Given the description of an element on the screen output the (x, y) to click on. 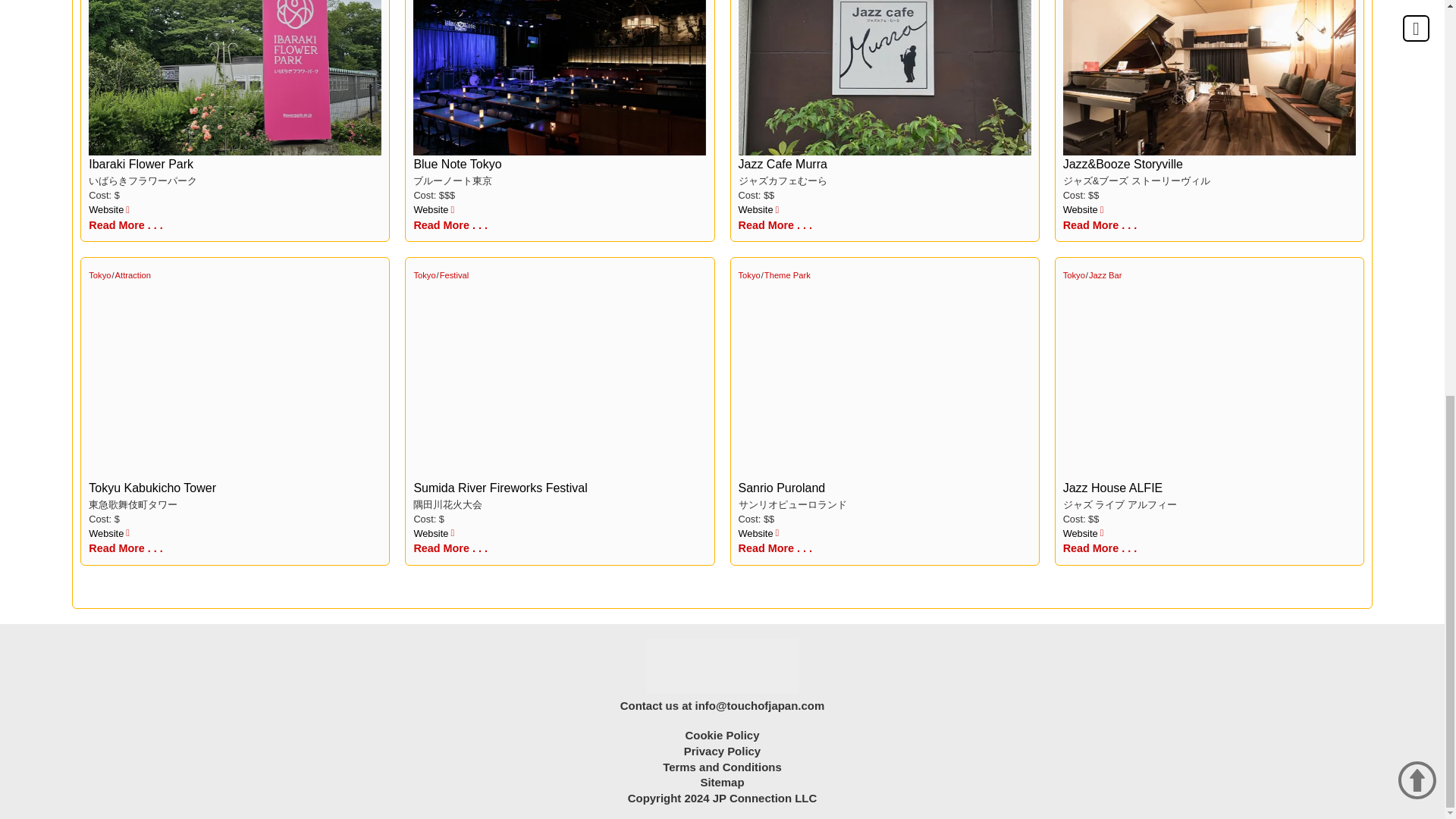
Blue Note Tokyo (559, 77)
Jazz Cafe Murra (884, 77)
Read More . . . (125, 225)
Tokyo (424, 275)
Website (108, 209)
Website (1082, 209)
Tokyu Kabukicho Tower (151, 488)
Ibaraki Flower Park (234, 77)
Read More . . . (1099, 225)
Read More . . . (125, 548)
